Given the description of an element on the screen output the (x, y) to click on. 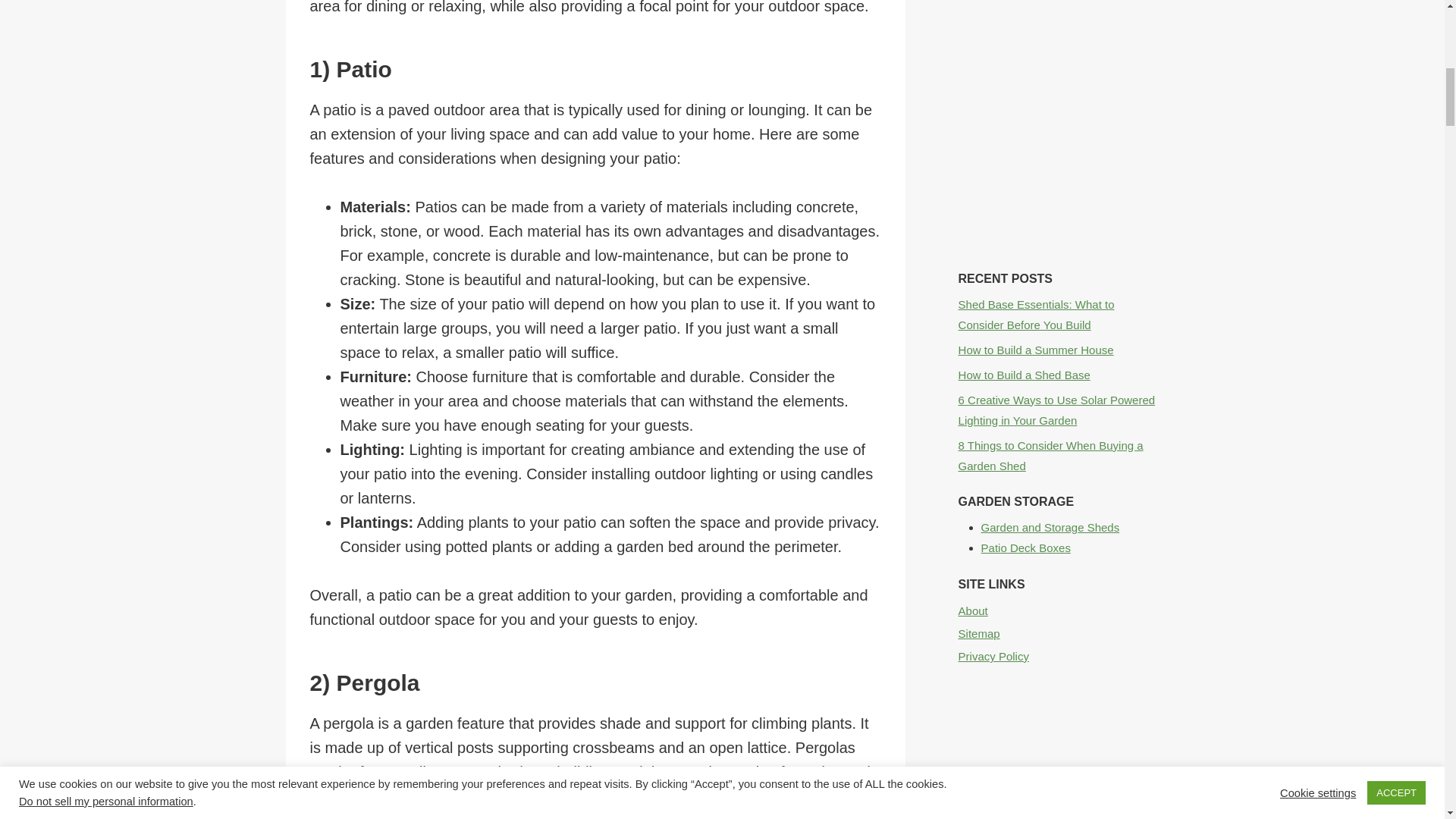
How to Build a Shed Base (1024, 374)
Privacy Policy (1058, 655)
Patio Deck Boxes (1025, 547)
8 Things to Consider When Buying a Garden Shed (1050, 454)
About (1058, 609)
6 Creative Ways to Use Solar Powered Lighting in Your Garden (1057, 409)
How to Build a Summer House (1035, 349)
Garden and Storage Sheds (1050, 526)
Sitemap (1058, 632)
Shed Base Essentials: What to Consider Before You Build (1036, 313)
